Given the description of an element on the screen output the (x, y) to click on. 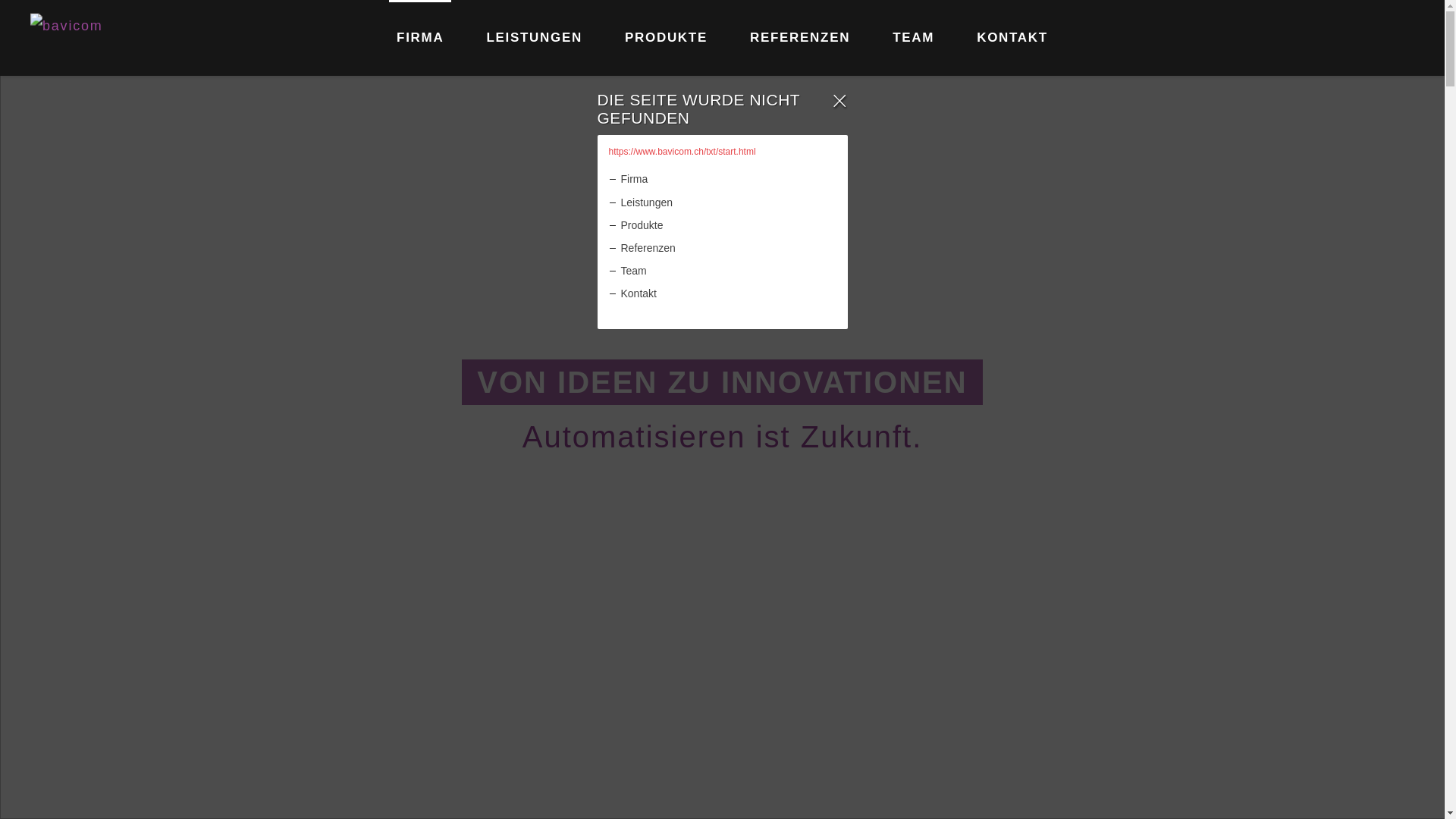
KONTAKT Element type: text (1012, 37)
Kontakt Element type: text (727, 293)
LEISTUNGEN Element type: text (533, 37)
Produkte Element type: text (727, 225)
REFERENZEN Element type: text (799, 37)
Referenzen Element type: text (727, 247)
TEAM Element type: text (912, 37)
PRODUKTE Element type: text (666, 37)
LinkedIn Element type: text (1398, 37)
Weiter... Element type: text (721, 771)
FIRMA Element type: text (420, 37)
Leistungen Element type: text (727, 202)
Firma Element type: text (727, 178)
bavicom Element type: hover (91, 37)
Team Element type: text (727, 270)
